Given the description of an element on the screen output the (x, y) to click on. 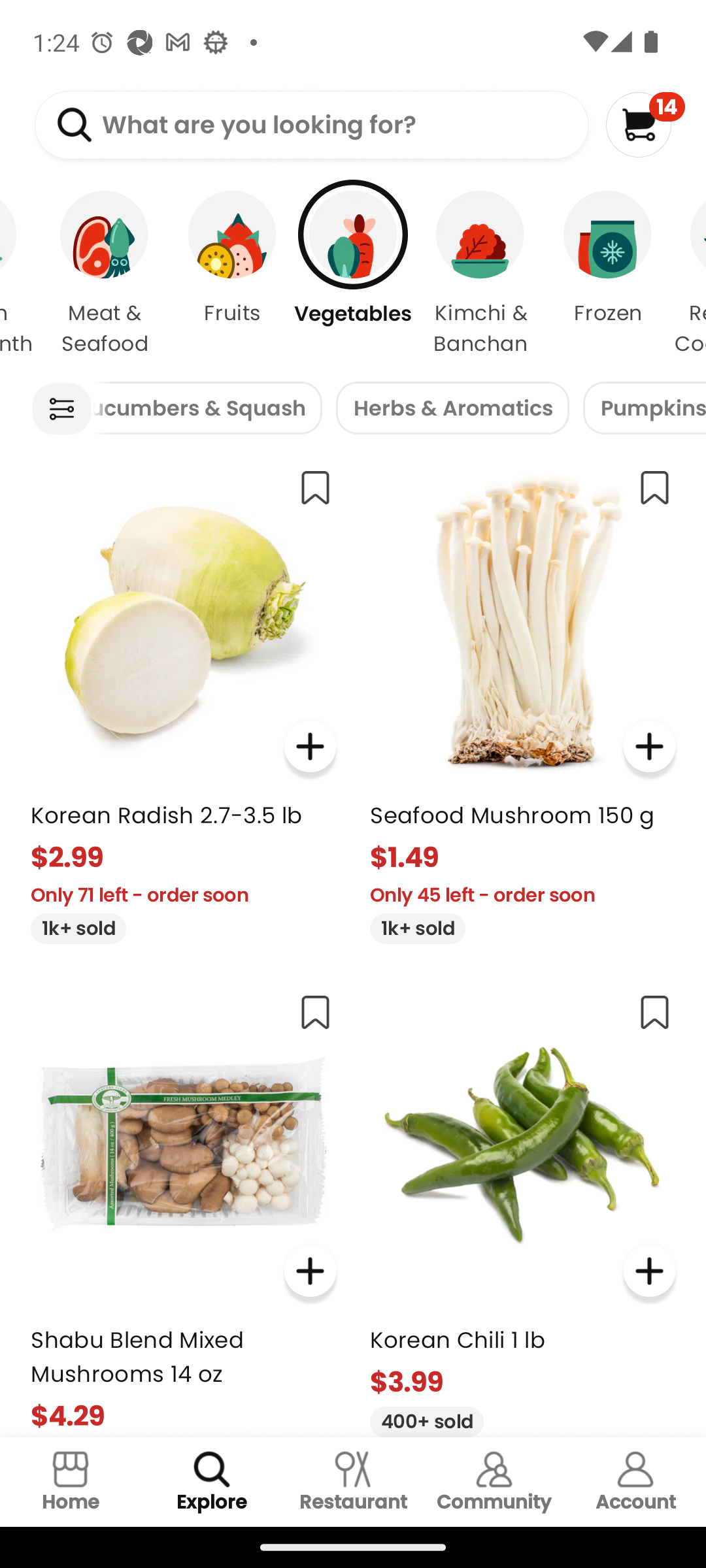
What are you looking for? (311, 124)
14 (644, 124)
Meat & Seafood (105, 274)
Fruits (232, 274)
Vegetables (352, 274)
Kimchi & Banchan (480, 274)
Frozen (607, 274)
Cucumbers & Squash (206, 407)
Herbs & Aromatics (452, 407)
Pumpkins & Eggplants (644, 407)
Shabu Blend Mixed Mushrooms 14 oz $4.29 (182, 1207)
Korean Chili 1 lb $3.99 400+ sold (522, 1207)
Home (70, 1482)
Explore (211, 1482)
Restaurant (352, 1482)
Community (493, 1482)
Account (635, 1482)
